Given the description of an element on the screen output the (x, y) to click on. 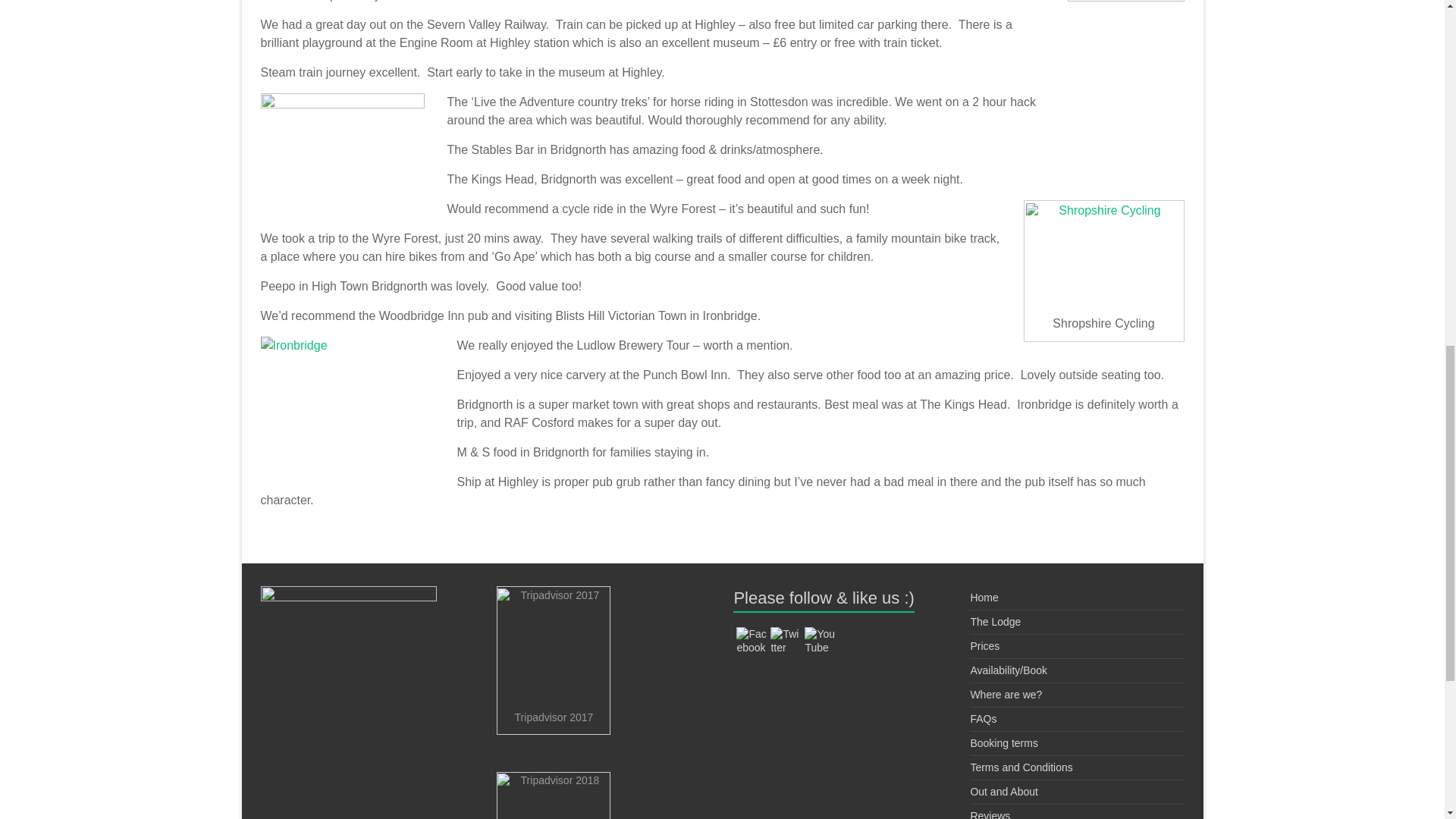
FAQs (982, 718)
The Lodge (994, 621)
Home (983, 597)
Out and About (1003, 791)
Booking terms (1002, 743)
Facebook (751, 640)
Reviews (989, 814)
Where are we? (1005, 694)
Twitter (785, 640)
YouTube (819, 640)
Prices (983, 645)
Terms and Conditions (1020, 767)
